Given the description of an element on the screen output the (x, y) to click on. 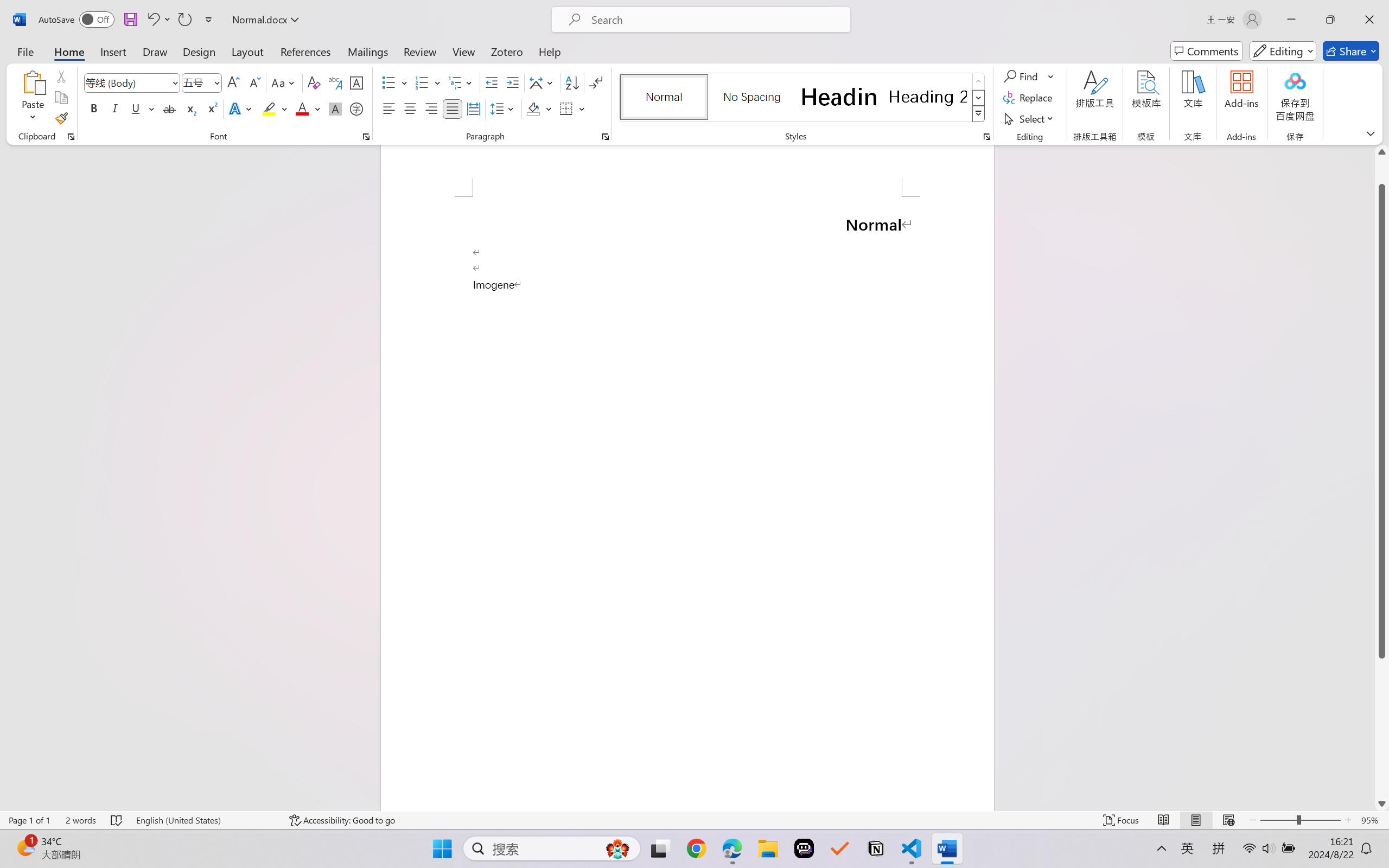
Microsoft Edge - 1 running window (222, 855)
Running applications (674, 855)
